Given the description of an element on the screen output the (x, y) to click on. 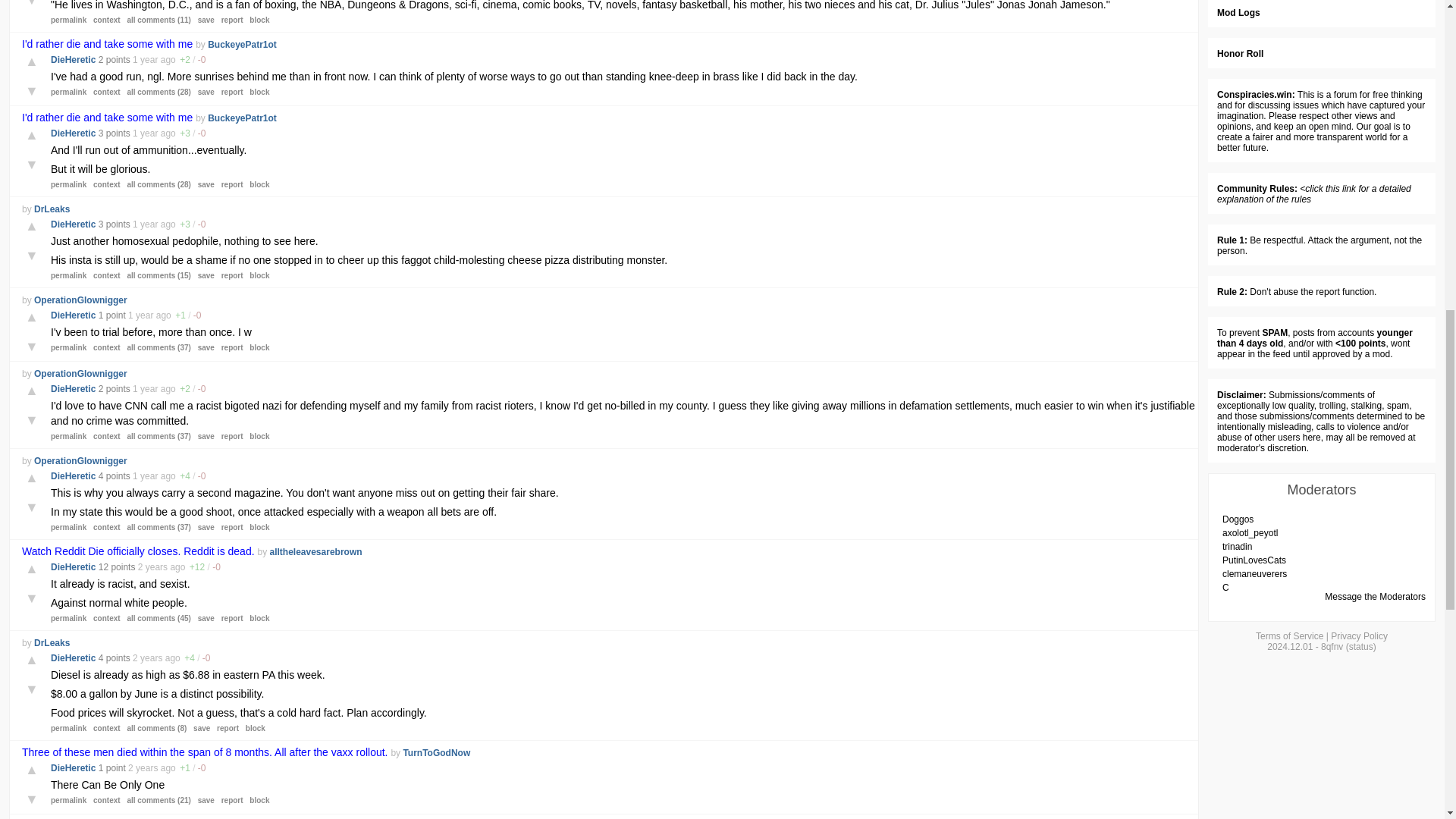
Wed Jan 11 15:22:46 GMT 2023 (144, 59)
Thu Jun 16 15:17:04 GMT 2022 (152, 566)
Thu Dec 22 20:32:32 GMT 2022 (144, 475)
Sat May 07 13:27:29 GMT 2022 (142, 767)
Thu Dec 22 20:39:25 GMT 2022 (144, 388)
Tue Dec 27 18:09:20 GMT 2022 (144, 224)
Thu Dec 22 23:39:08 GMT 2022 (140, 315)
Thu May 12 23:12:56 GMT 2022 (146, 657)
Wed Jan 11 06:28:14 GMT 2023 (144, 132)
